Given the description of an element on the screen output the (x, y) to click on. 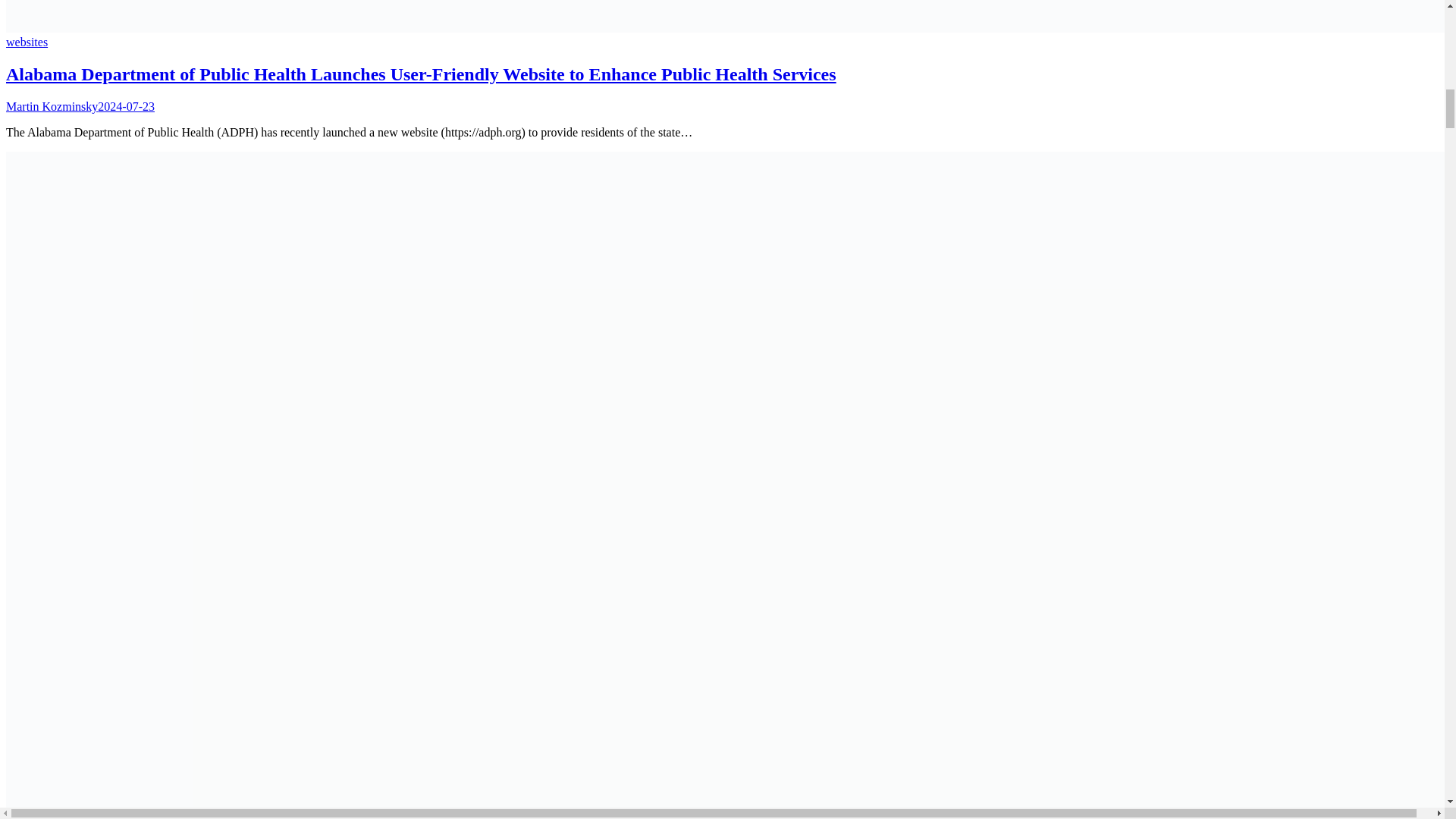
websites (26, 42)
2024-07-23 (125, 106)
Martin Kozminsky (51, 106)
